Given the description of an element on the screen output the (x, y) to click on. 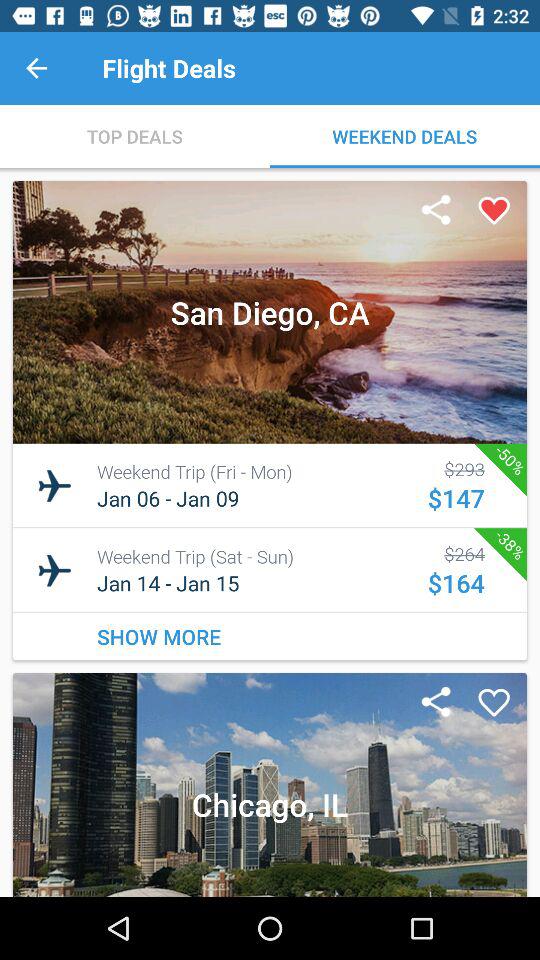
add to favorite (494, 703)
